Given the description of an element on the screen output the (x, y) to click on. 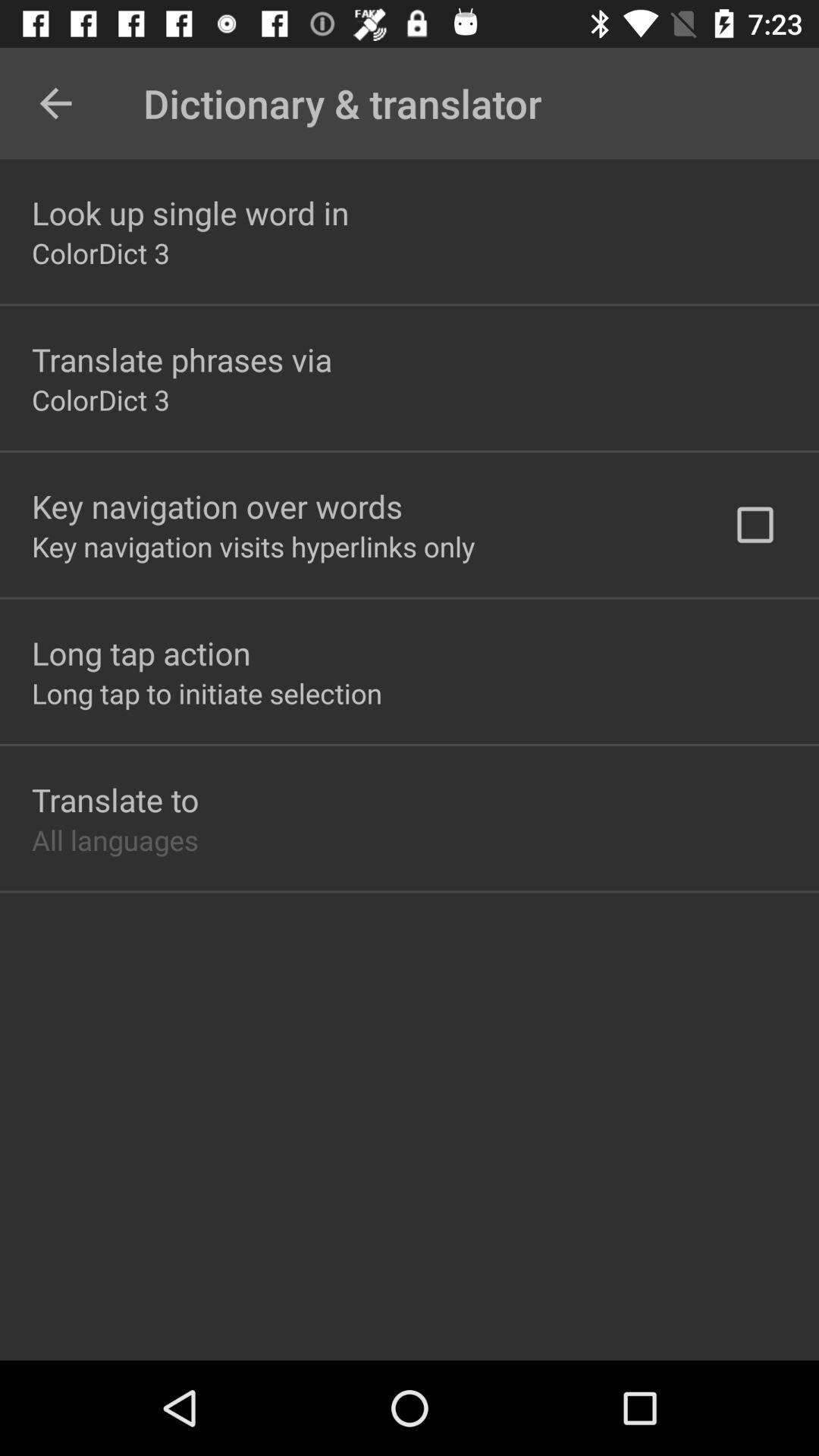
turn off the translate to icon (115, 799)
